Given the description of an element on the screen output the (x, y) to click on. 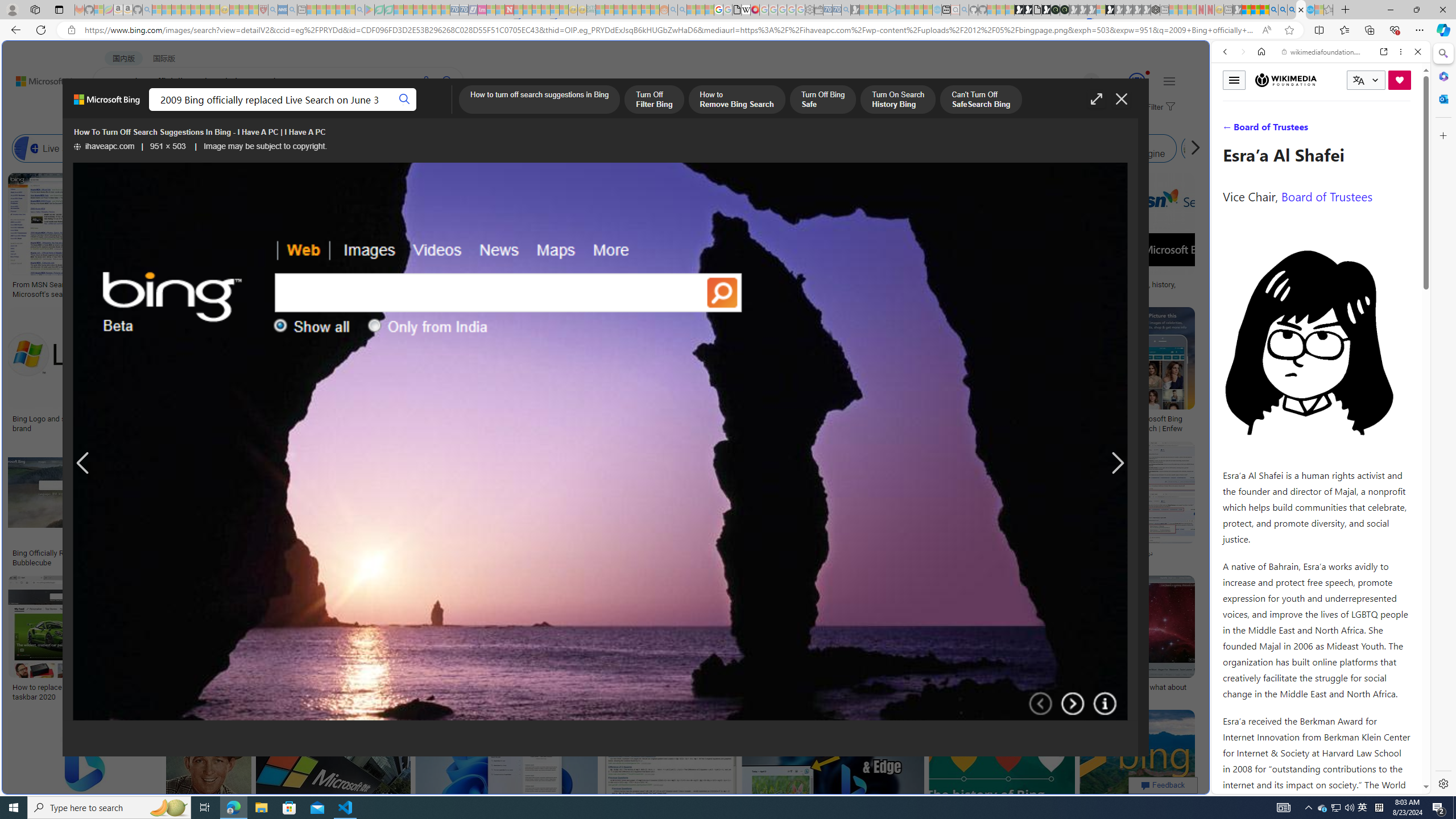
Close split screen (1208, 57)
Bing Logo, symbol, meaning, history, PNG, brandSave (1123, 237)
MediaWiki (754, 9)
AutomationID: rh_meter (1136, 80)
Bing Logo, symbol, meaning, history, PNG, brand (1124, 289)
